Given the description of an element on the screen output the (x, y) to click on. 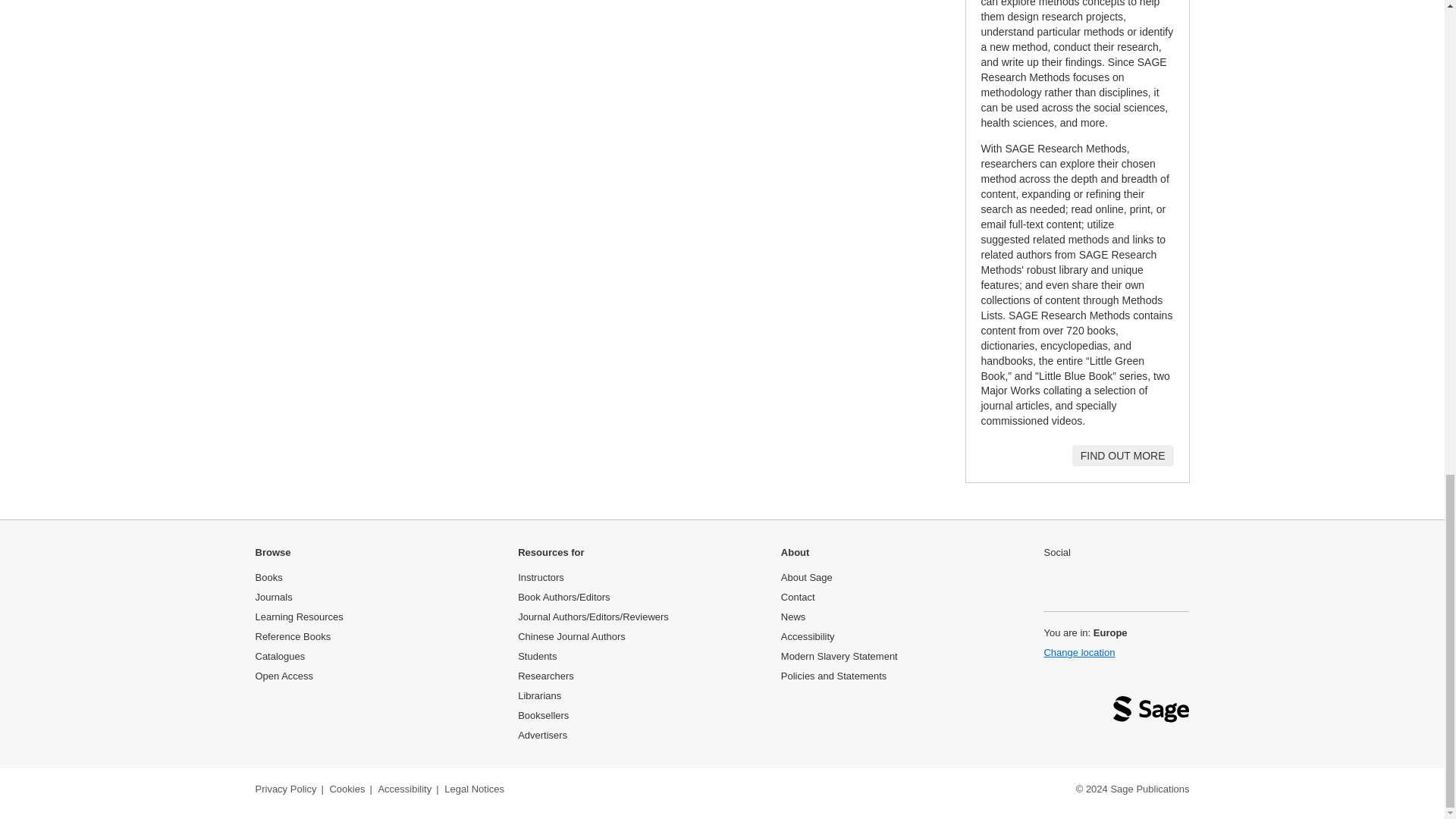
Sage logo: link back to homepage (1151, 712)
Catalogues (279, 655)
